Given the description of an element on the screen output the (x, y) to click on. 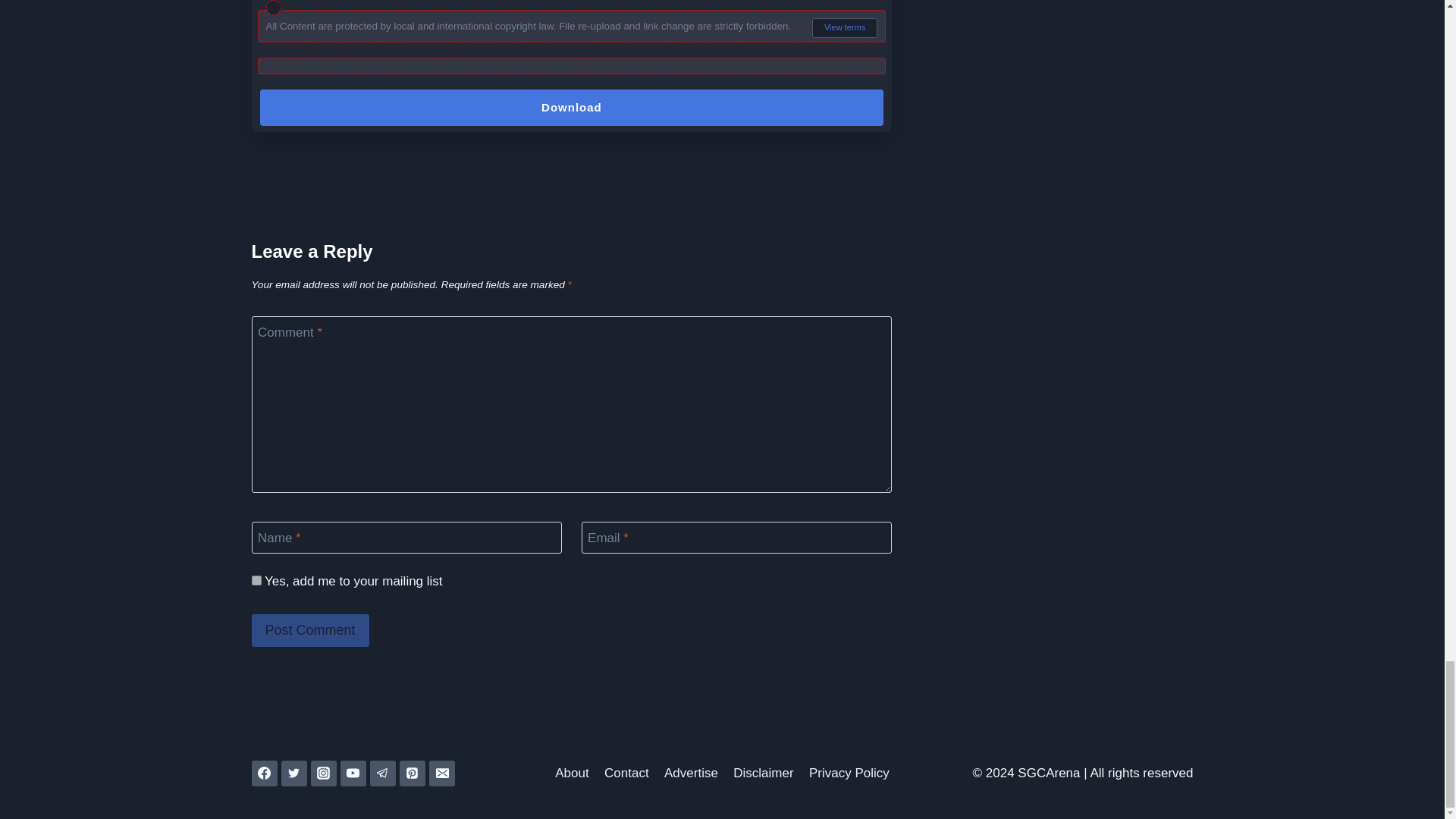
1 (256, 580)
Post Comment (310, 630)
